Given the description of an element on the screen output the (x, y) to click on. 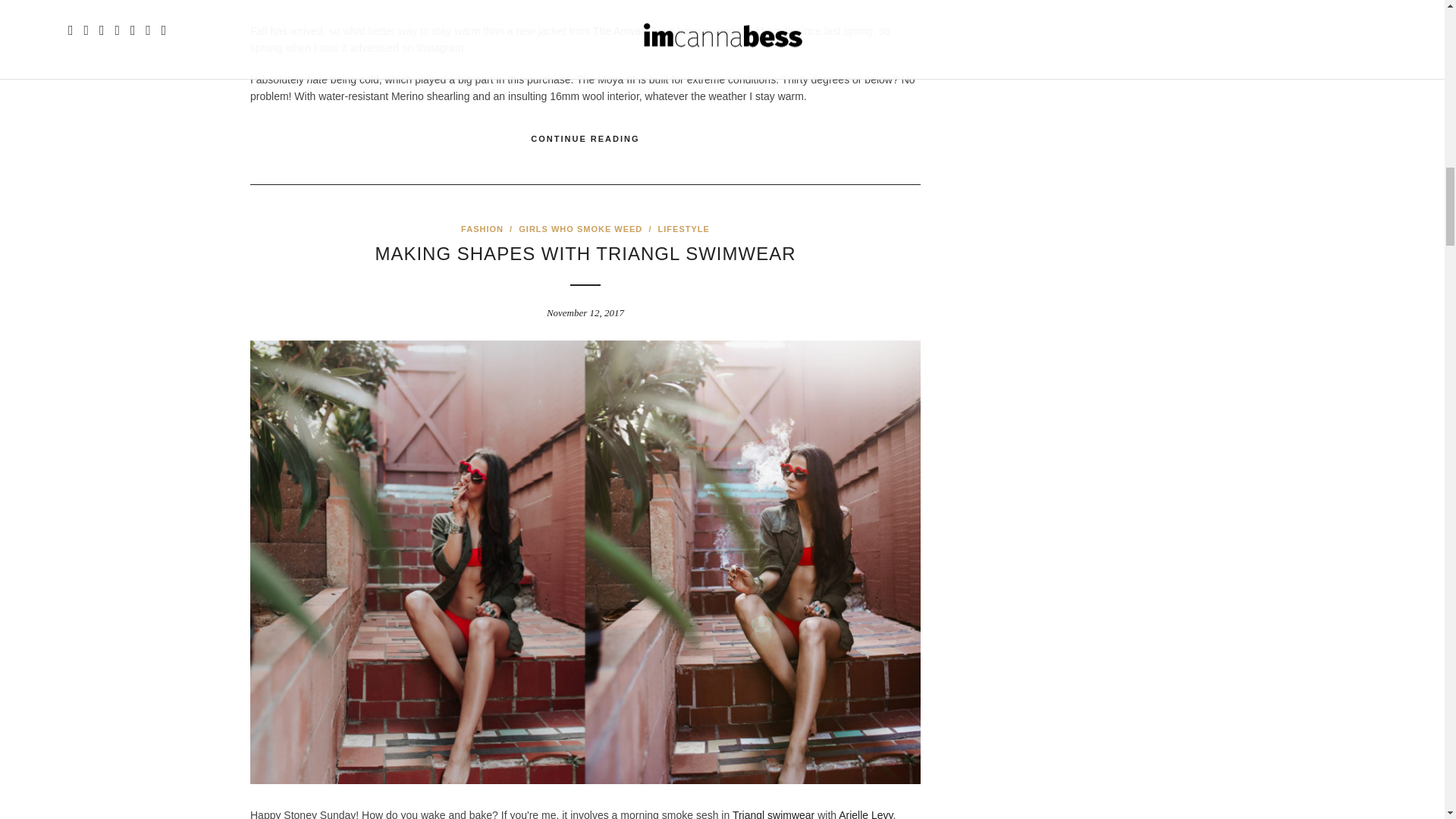
LIFESTYLE (684, 228)
Triangl swimwear (772, 814)
The Arrivals (620, 30)
FASHION (482, 228)
Moya III (774, 30)
Making Shapes with Triangl Swimwear (584, 253)
GIRLS WHO SMOKE WEED (580, 228)
CONTINUE READING (585, 138)
Arielle Levy (865, 814)
MAKING SHAPES WITH TRIANGL SWIMWEAR (584, 253)
